Given the description of an element on the screen output the (x, y) to click on. 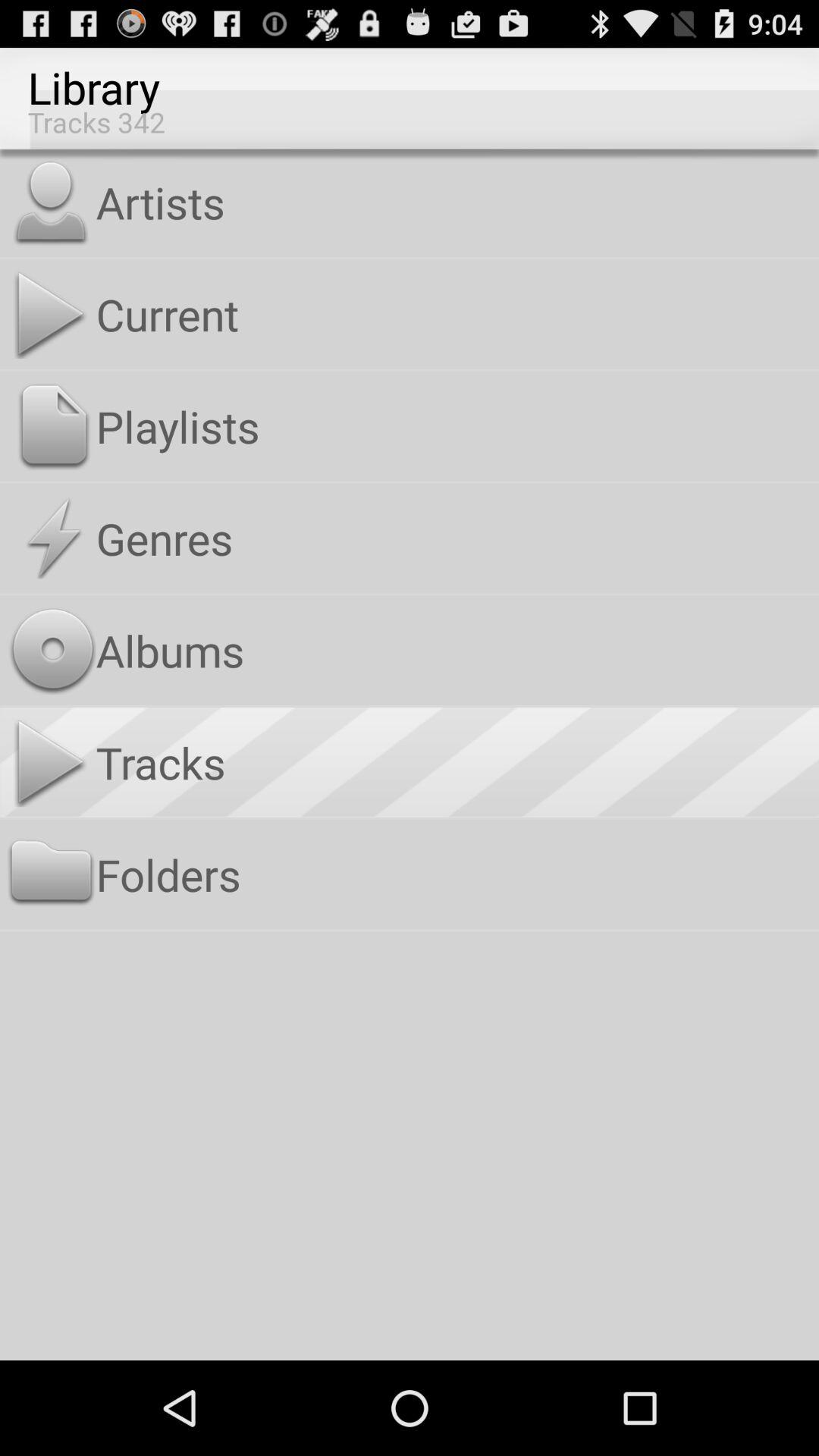
open the albums icon (454, 650)
